Given the description of an element on the screen output the (x, y) to click on. 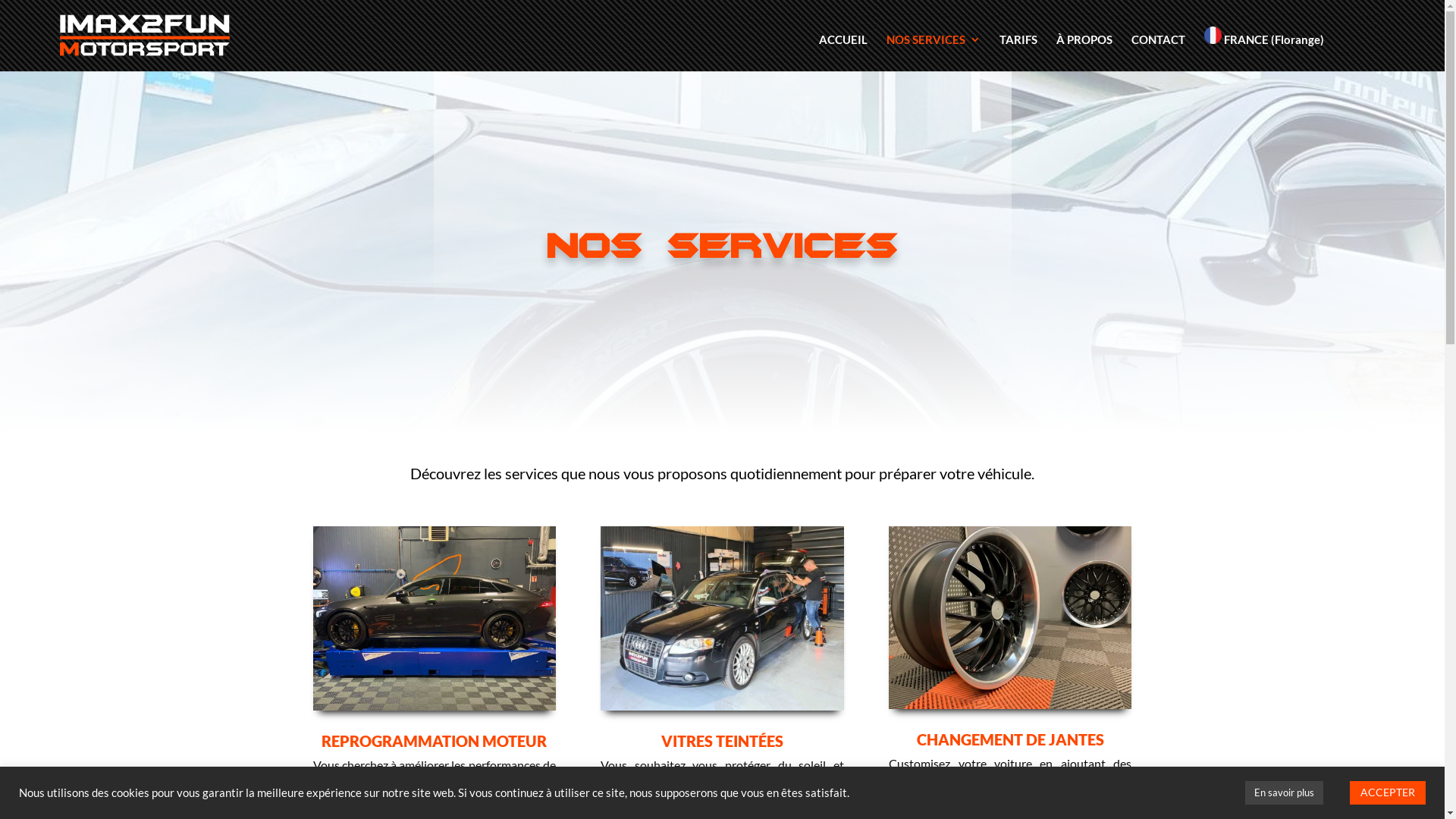
FRANCE (Florange) Element type: text (1312, 48)
NOS SERVICES Element type: text (933, 52)
ACCEPTER Element type: text (1387, 792)
ACCUEIL Element type: text (843, 52)
REPROGRAMMATION MOTEUR Element type: text (433, 740)
CHANGEMENT DE JANTES Element type: text (1010, 739)
En savoir plus Element type: text (1284, 792)
TARIFS Element type: text (1018, 52)
CONTACT Element type: text (1158, 52)
